Given the description of an element on the screen output the (x, y) to click on. 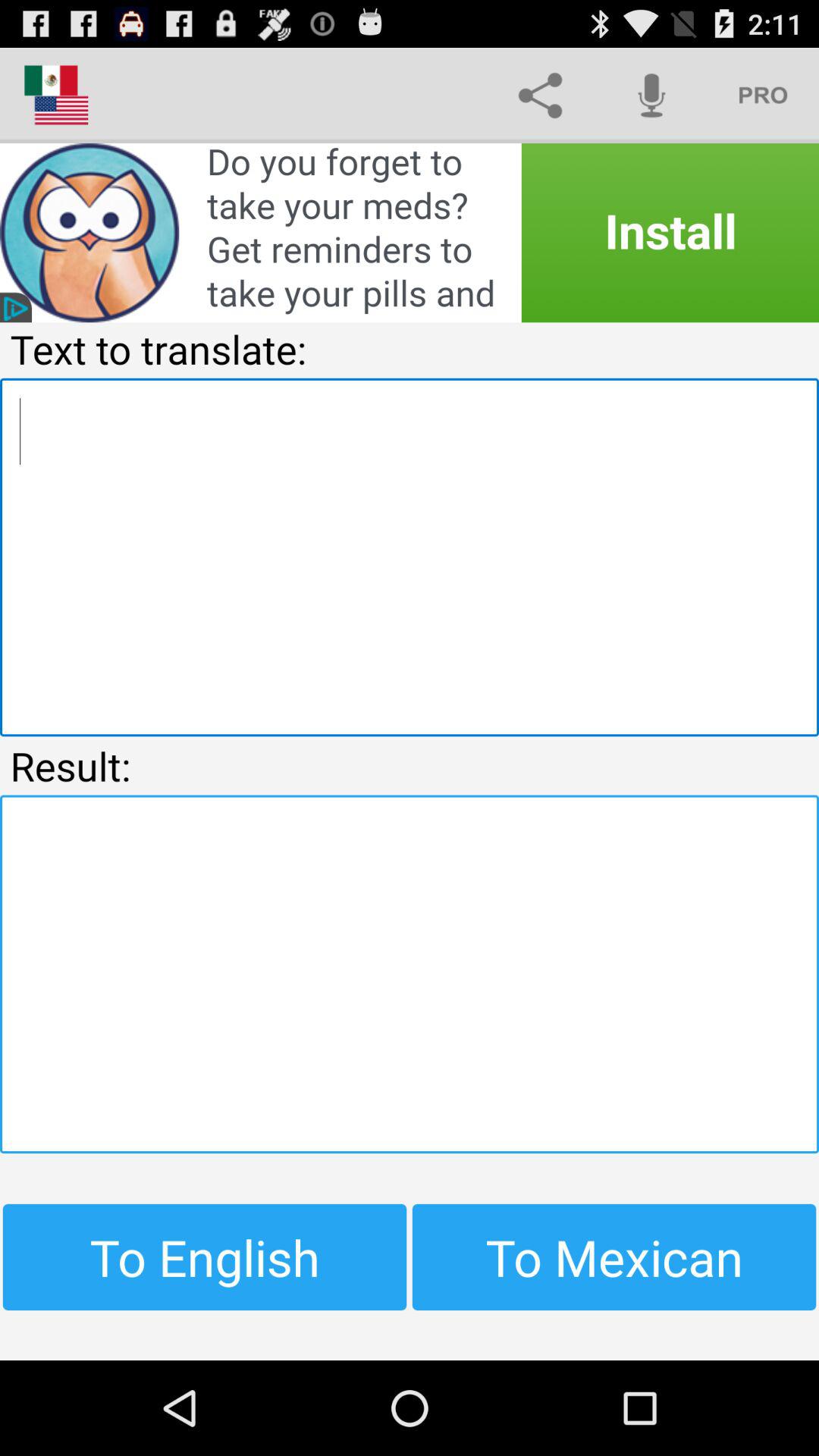
click the item above to english icon (409, 974)
